Given the description of an element on the screen output the (x, y) to click on. 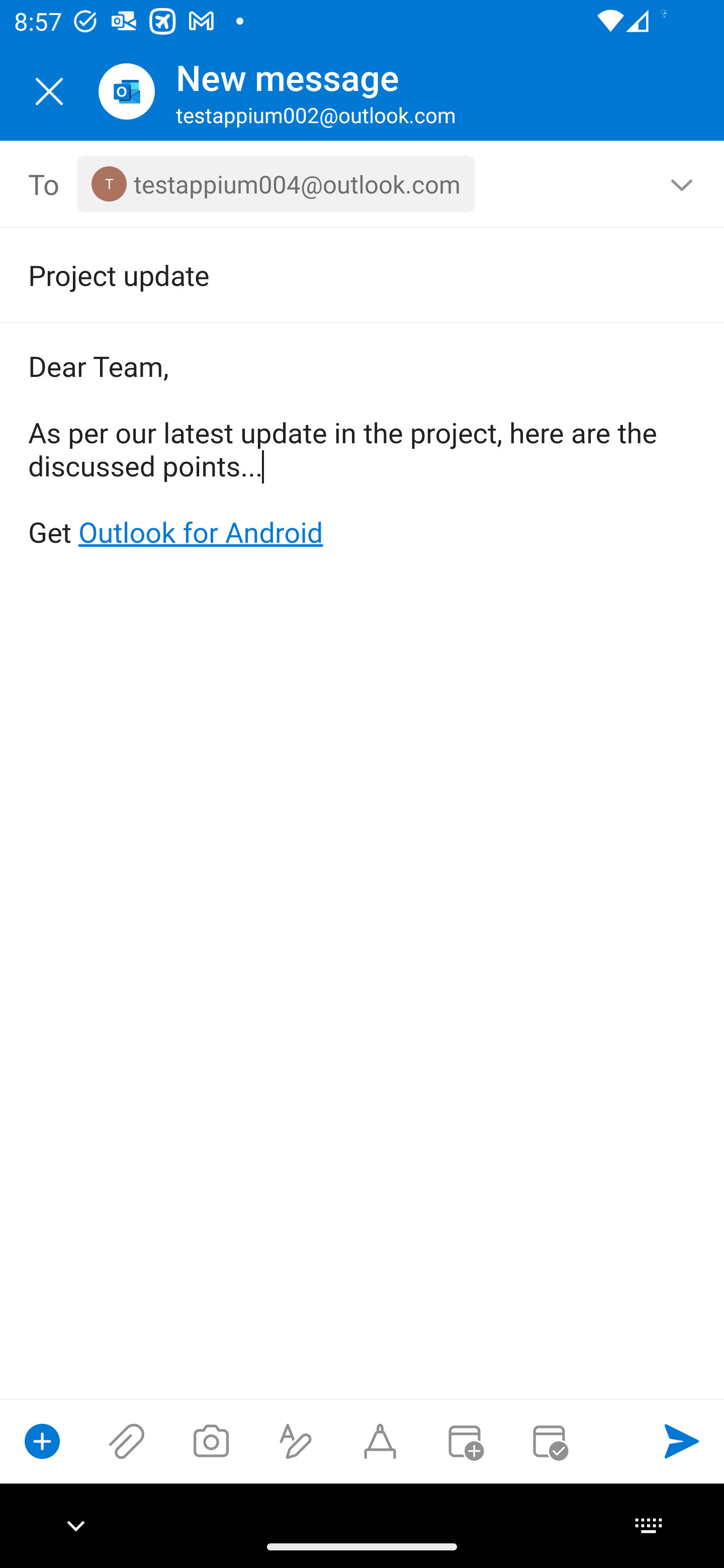
Close (49, 91)
To, 1 recipient <testappium004@outlook.com> (362, 184)
Project update (333, 274)
Show compose options (42, 1440)
Attach files (126, 1440)
Take a photo (210, 1440)
Show formatting options (295, 1440)
Start Ink compose (380, 1440)
Convert to event (464, 1440)
Send availability (548, 1440)
Send (681, 1440)
